Given the description of an element on the screen output the (x, y) to click on. 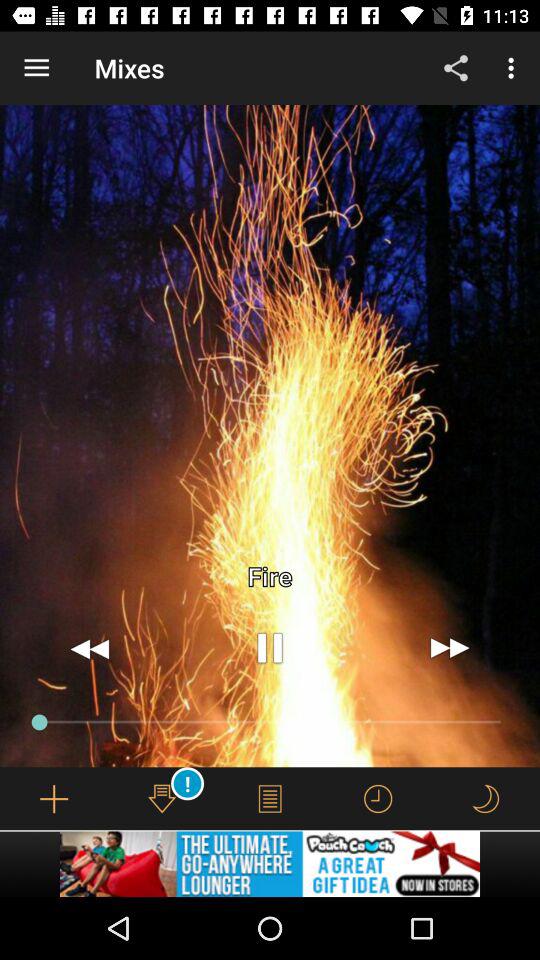
rewind the video (90, 648)
